Given the description of an element on the screen output the (x, y) to click on. 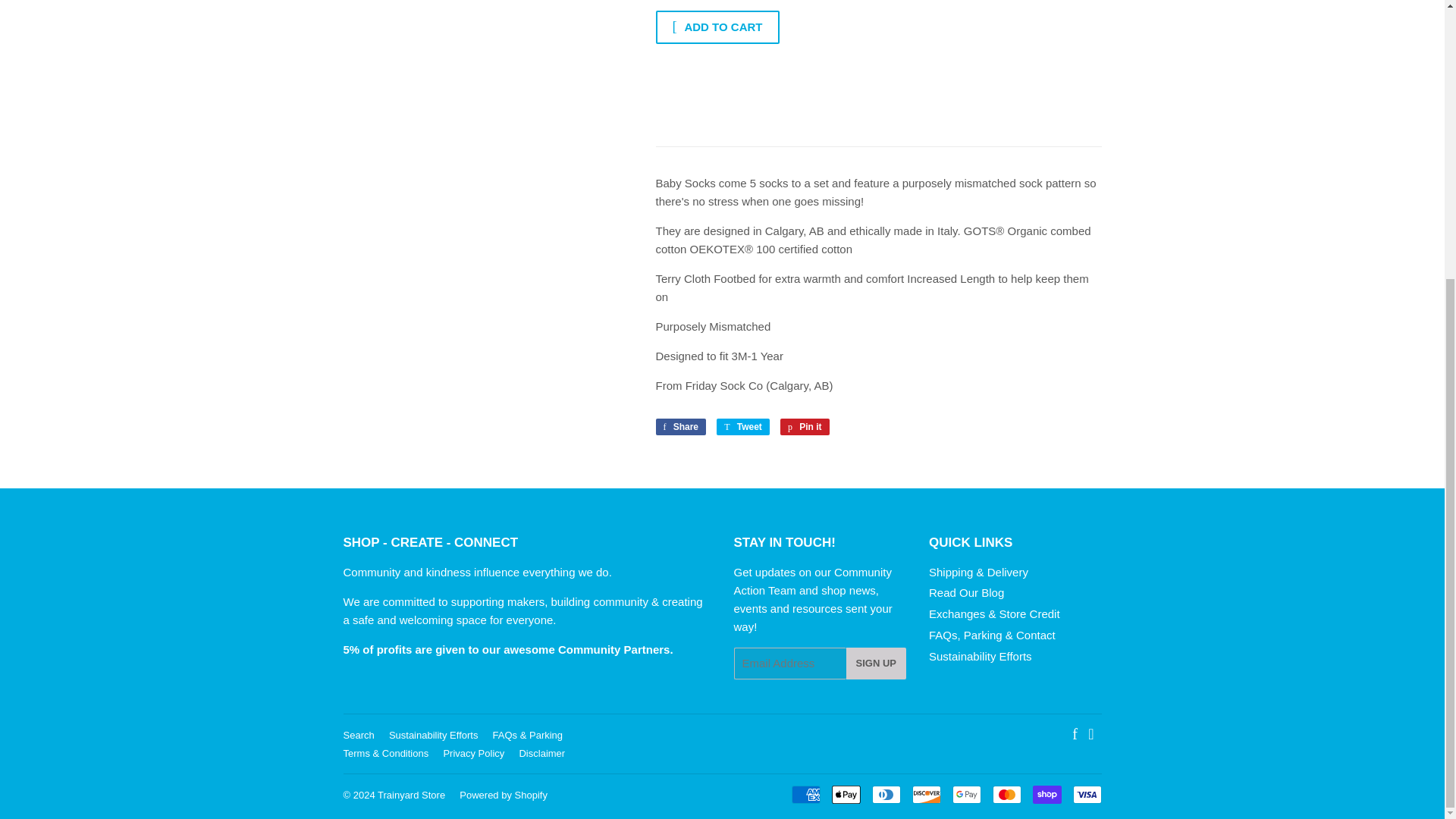
Share on Facebook (680, 426)
Mastercard (1005, 794)
Pin on Pinterest (804, 426)
Shop Pay (1046, 794)
Visa (1085, 794)
Tweet on Twitter (743, 426)
Apple Pay (845, 794)
American Express (806, 794)
Google Pay (966, 794)
Discover (925, 794)
Diners Club (886, 794)
